Given the description of an element on the screen output the (x, y) to click on. 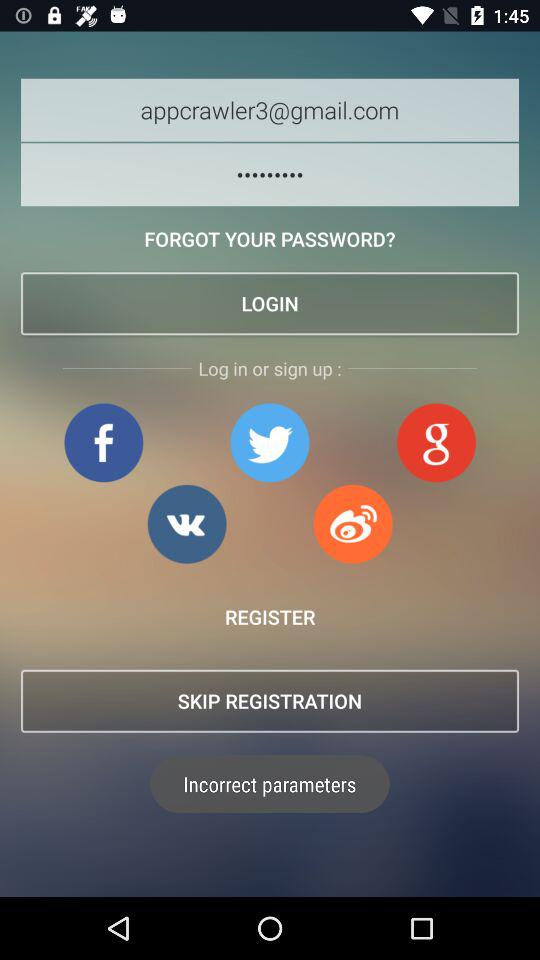
facebook page (103, 442)
